Given the description of an element on the screen output the (x, y) to click on. 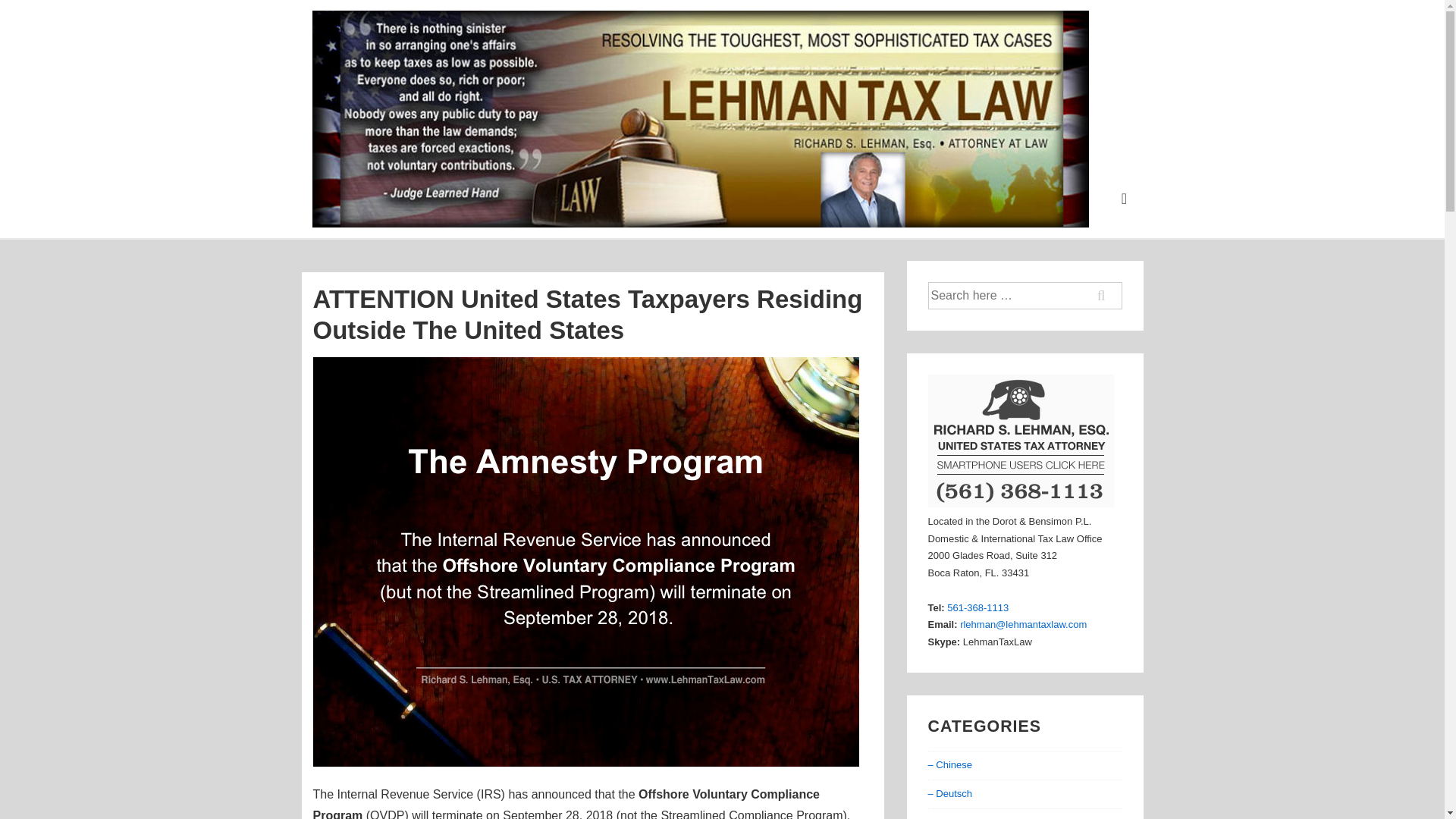
Telephone (978, 607)
Contact Richard Lehman via email (1022, 624)
MENU (1123, 198)
561-368-1113 (978, 607)
